Given the description of an element on the screen output the (x, y) to click on. 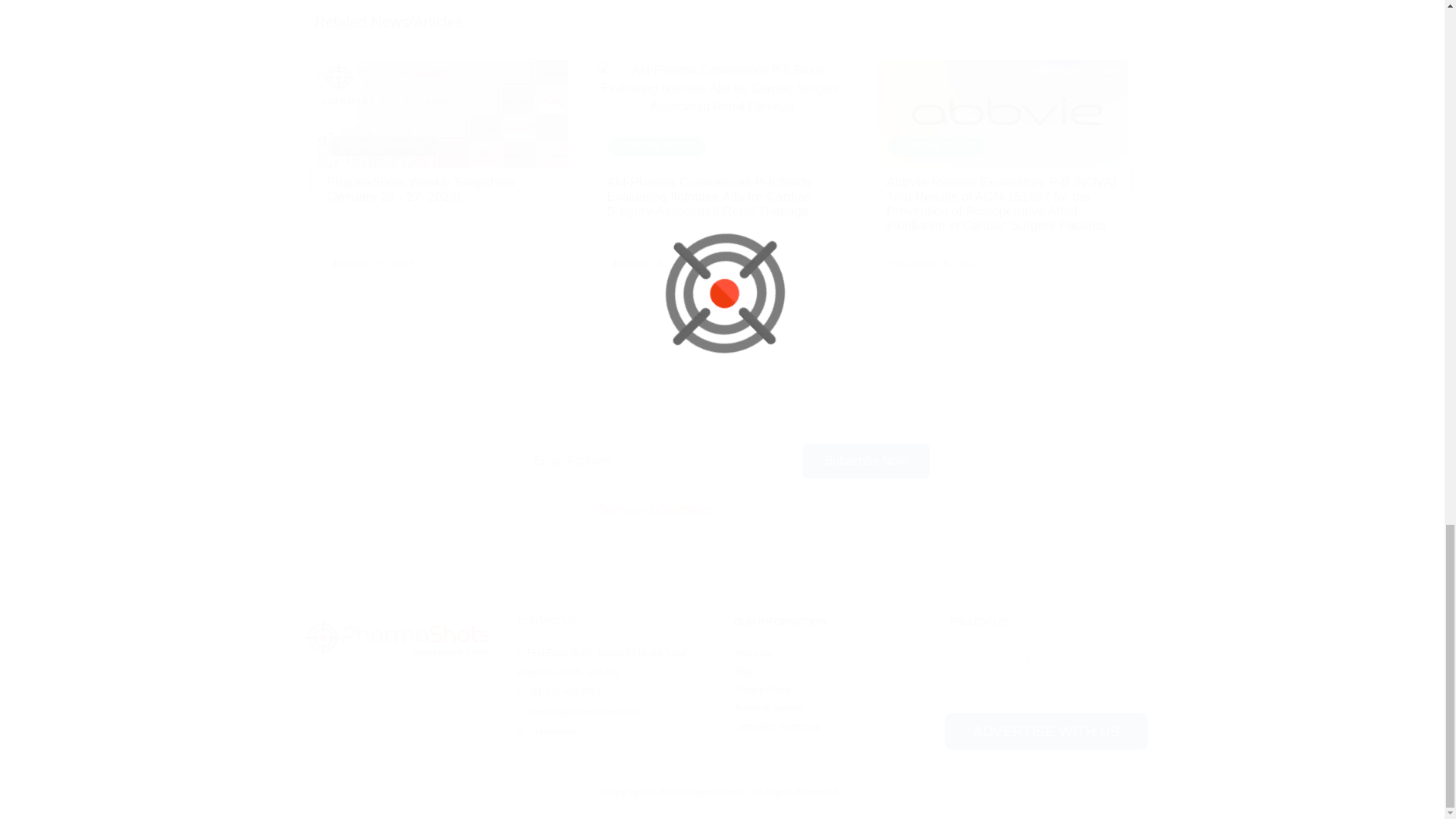
on (521, 509)
Advertise with us (1046, 731)
